Given the description of an element on the screen output the (x, y) to click on. 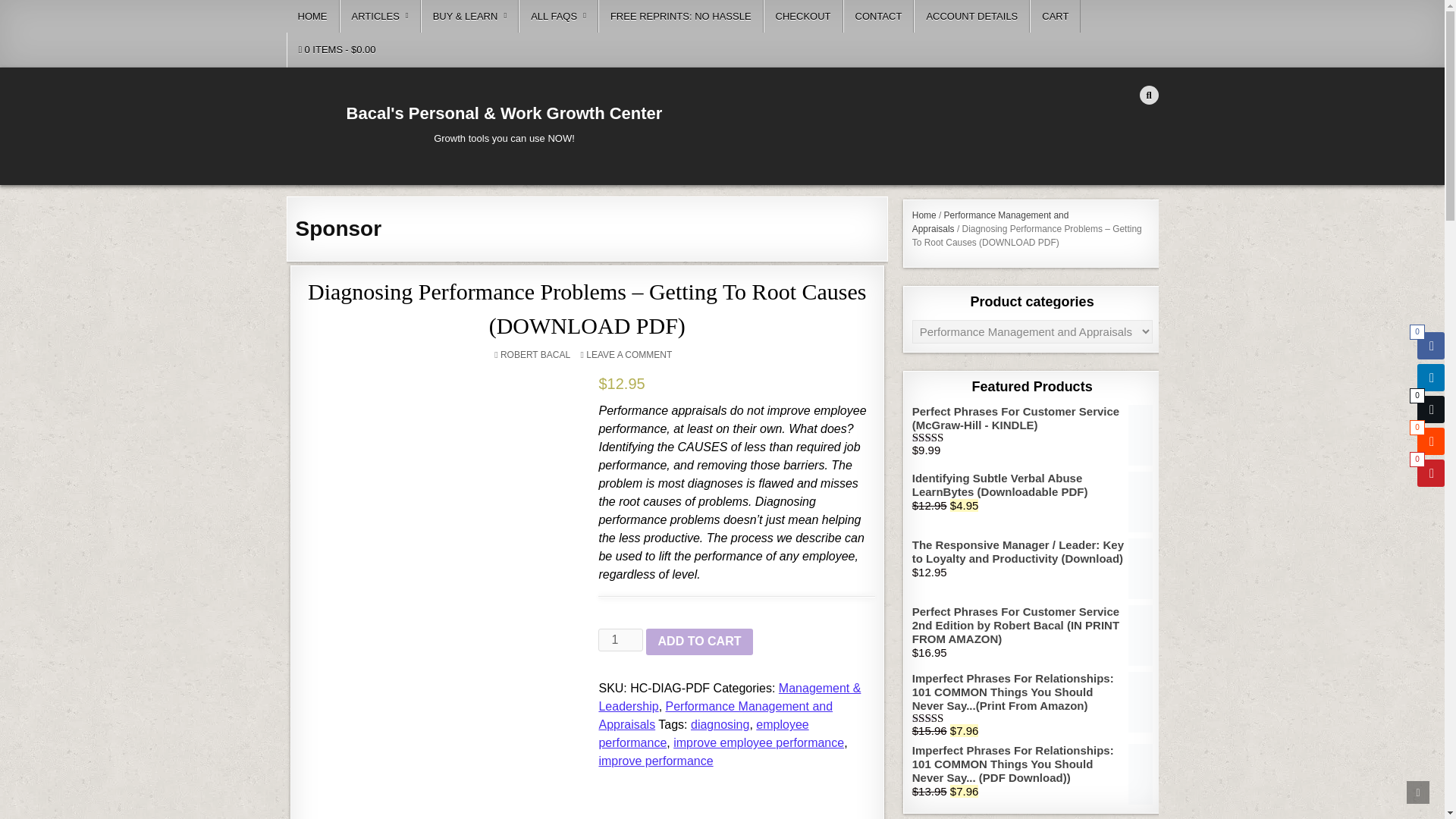
1 (620, 639)
HOME (312, 16)
Scroll to Top (1417, 792)
SCROLL TO TOP (1417, 792)
FREE REPRINTS: NO HASSLE (680, 16)
ALL FAQS (558, 16)
ARTICLES (379, 16)
Start shopping (336, 49)
